Given the description of an element on the screen output the (x, y) to click on. 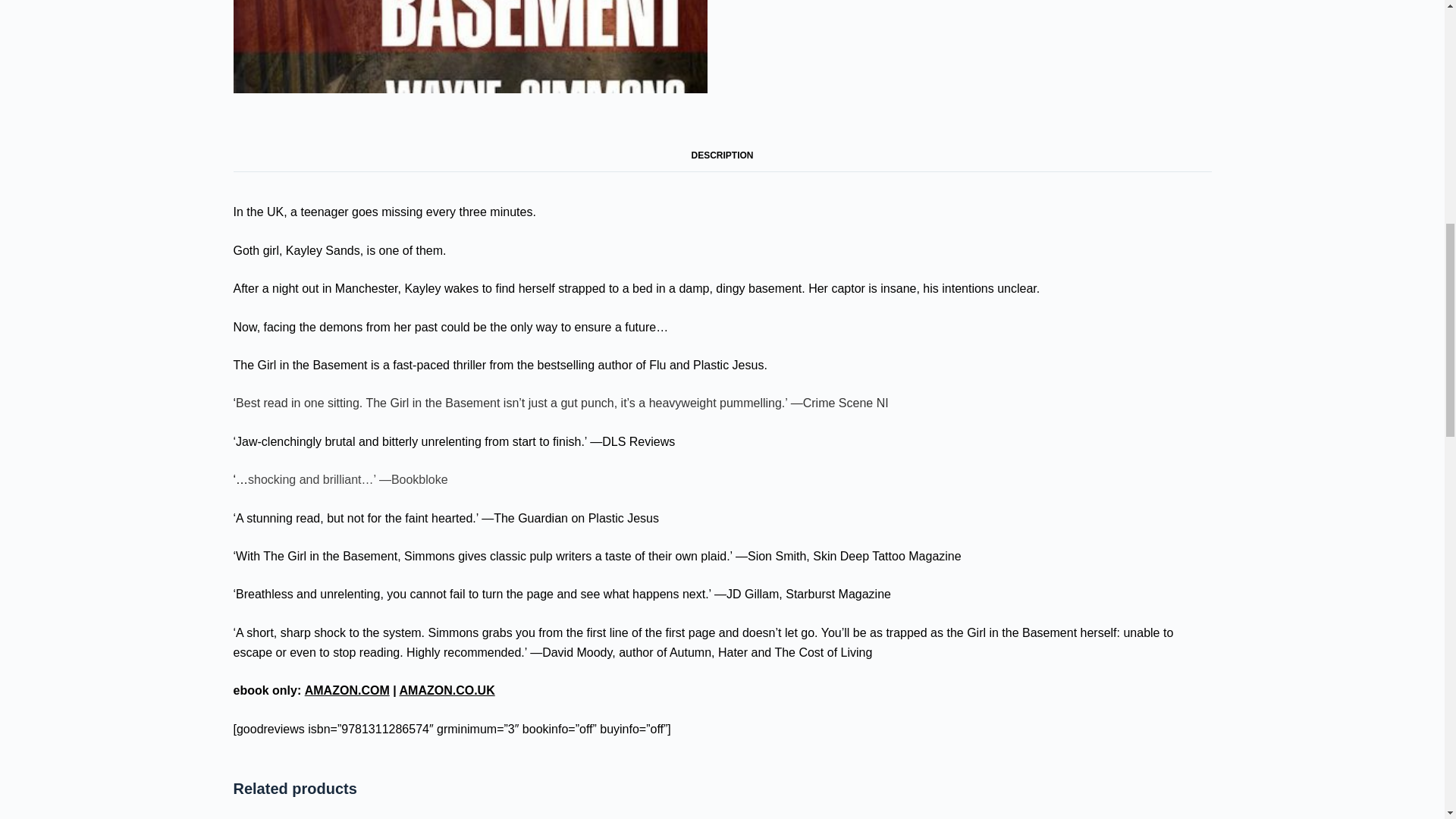
GirlintheBasement (469, 46)
